Given the description of an element on the screen output the (x, y) to click on. 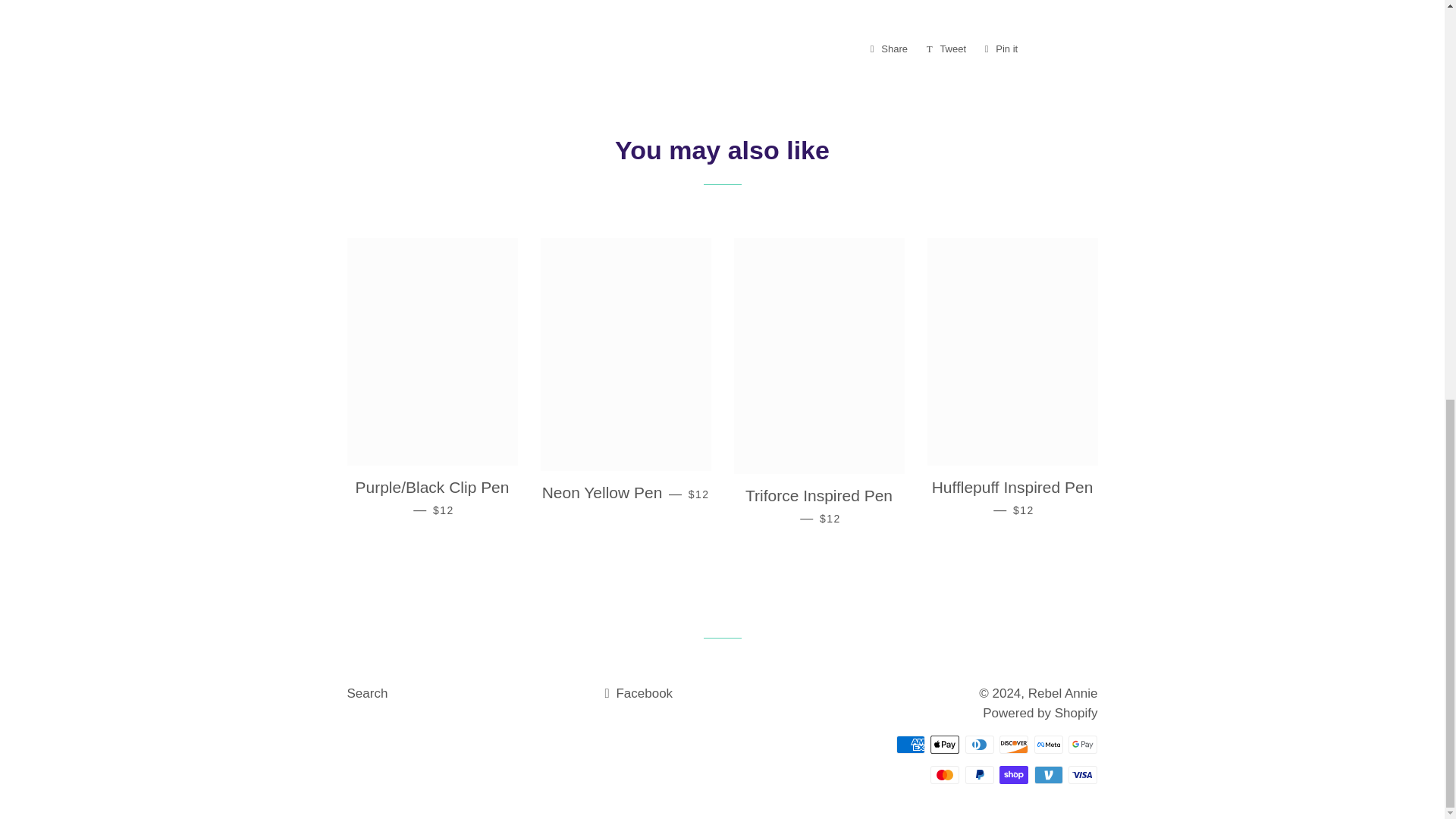
Google Pay (1082, 744)
Visa (1082, 774)
PayPal (979, 774)
Rebel Annie on Facebook (638, 693)
Diners Club (979, 744)
Shop Pay (1012, 774)
Pin on Pinterest (1000, 48)
Meta Pay (1047, 744)
American Express (910, 744)
Apple Pay (944, 744)
Venmo (946, 48)
Share on Facebook (1047, 774)
Tweet on Twitter (889, 48)
